Given the description of an element on the screen output the (x, y) to click on. 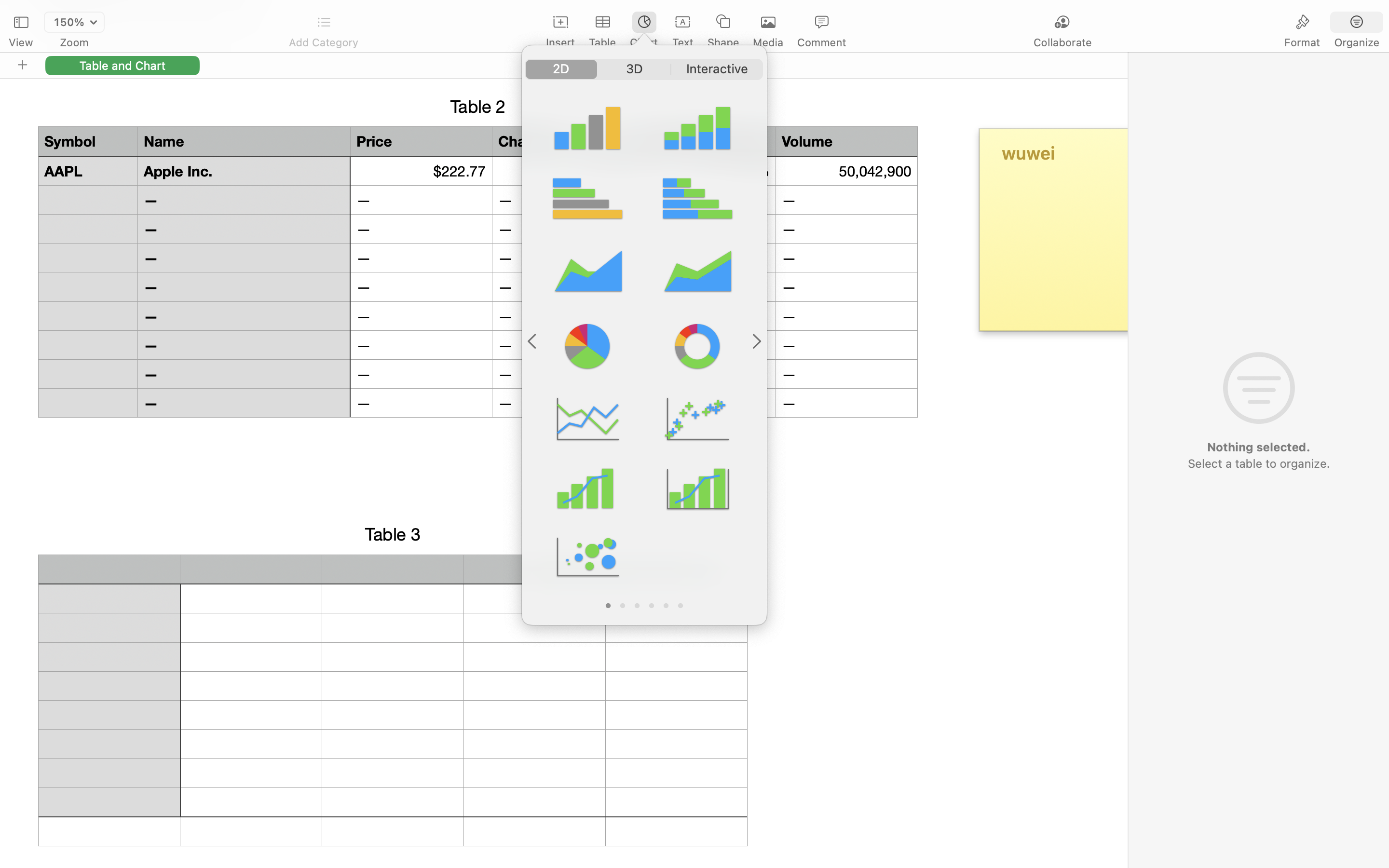
View Element type: AXStaticText (20, 42)
Format Element type: AXStaticText (1302, 42)
Untitled Element type: AXStaticText (667, 12)
